Given the description of an element on the screen output the (x, y) to click on. 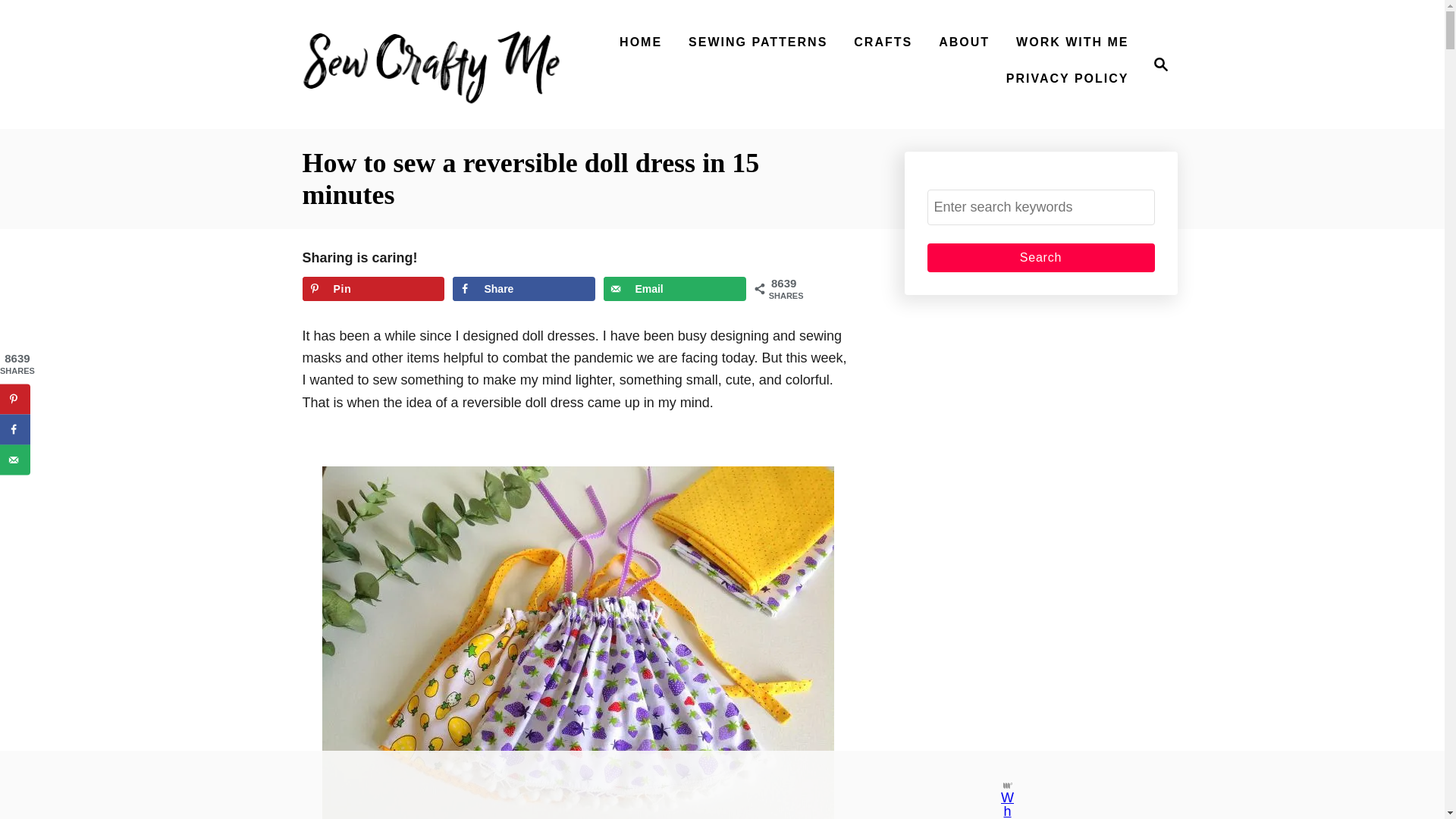
Send over email (1155, 64)
SEWING PATTERNS (674, 288)
CRAFTS (757, 41)
HOME (882, 41)
ABOUT (640, 41)
Search (964, 41)
Save to Pinterest (1040, 257)
Email (372, 288)
Share (674, 288)
Search (523, 288)
Sew Crafty Me (1040, 257)
WORK WITH ME (433, 64)
Magnifying Glass (1072, 41)
PRIVACY POLICY (1160, 64)
